Given the description of an element on the screen output the (x, y) to click on. 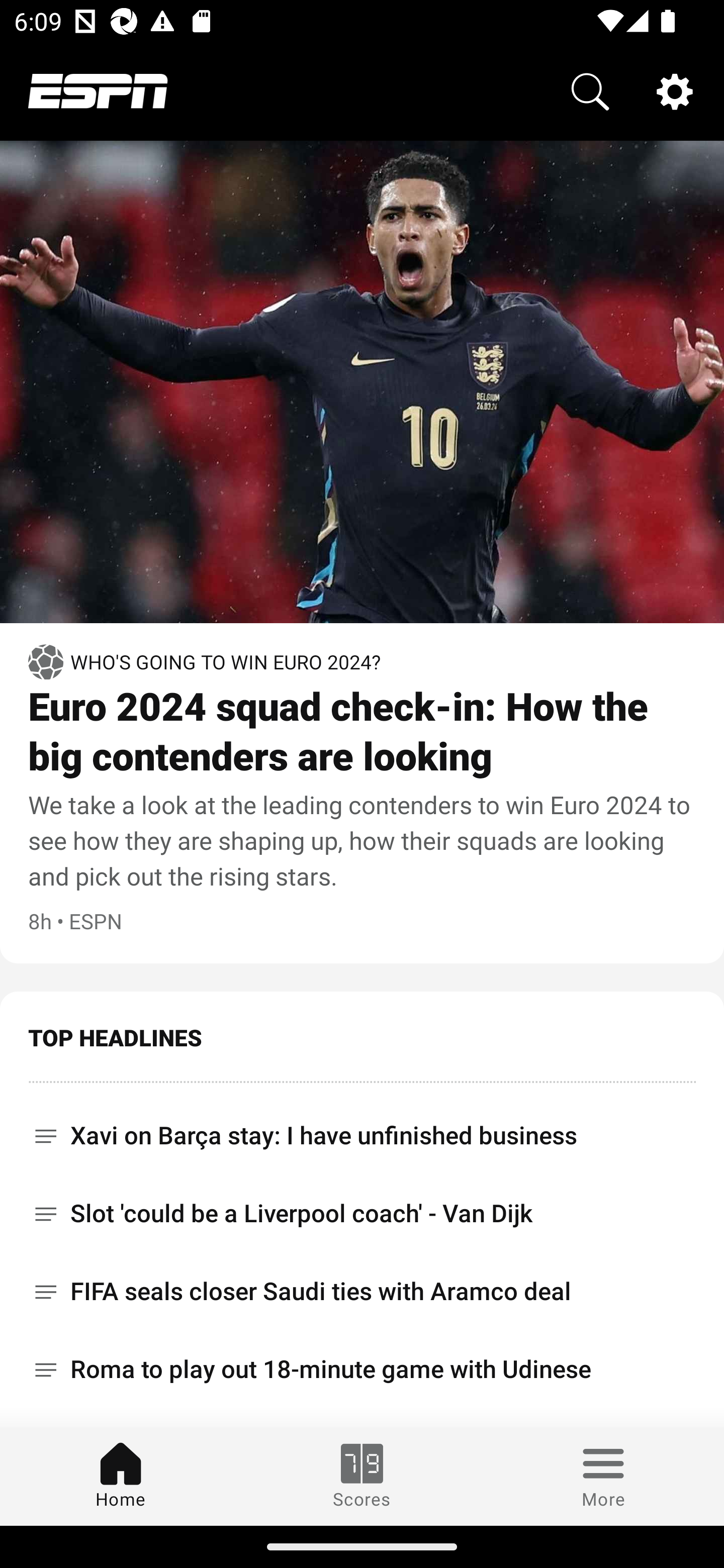
Search (590, 90)
Settings (674, 90)
 Xavi on Barça stay: I have unfinished business (362, 1128)
 Slot 'could be a Liverpool coach' - Van Dijk (362, 1213)
 FIFA seals closer Saudi ties with Aramco deal (362, 1291)
 Roma to play out 18-minute game with Udinese (362, 1369)
Scores (361, 1475)
More (603, 1475)
